Given the description of an element on the screen output the (x, y) to click on. 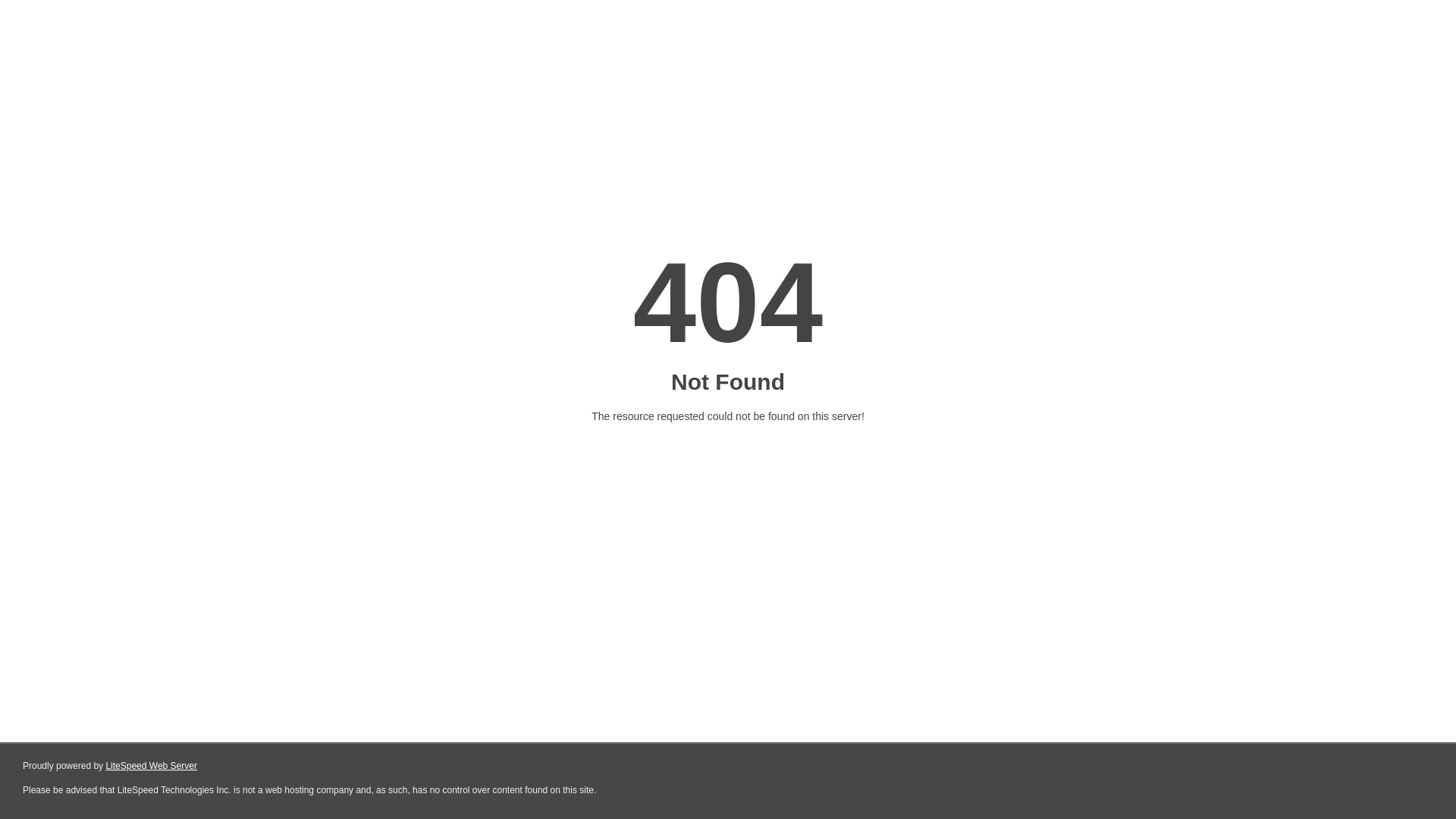
LiteSpeed Web Server Element type: text (151, 765)
